Given the description of an element on the screen output the (x, y) to click on. 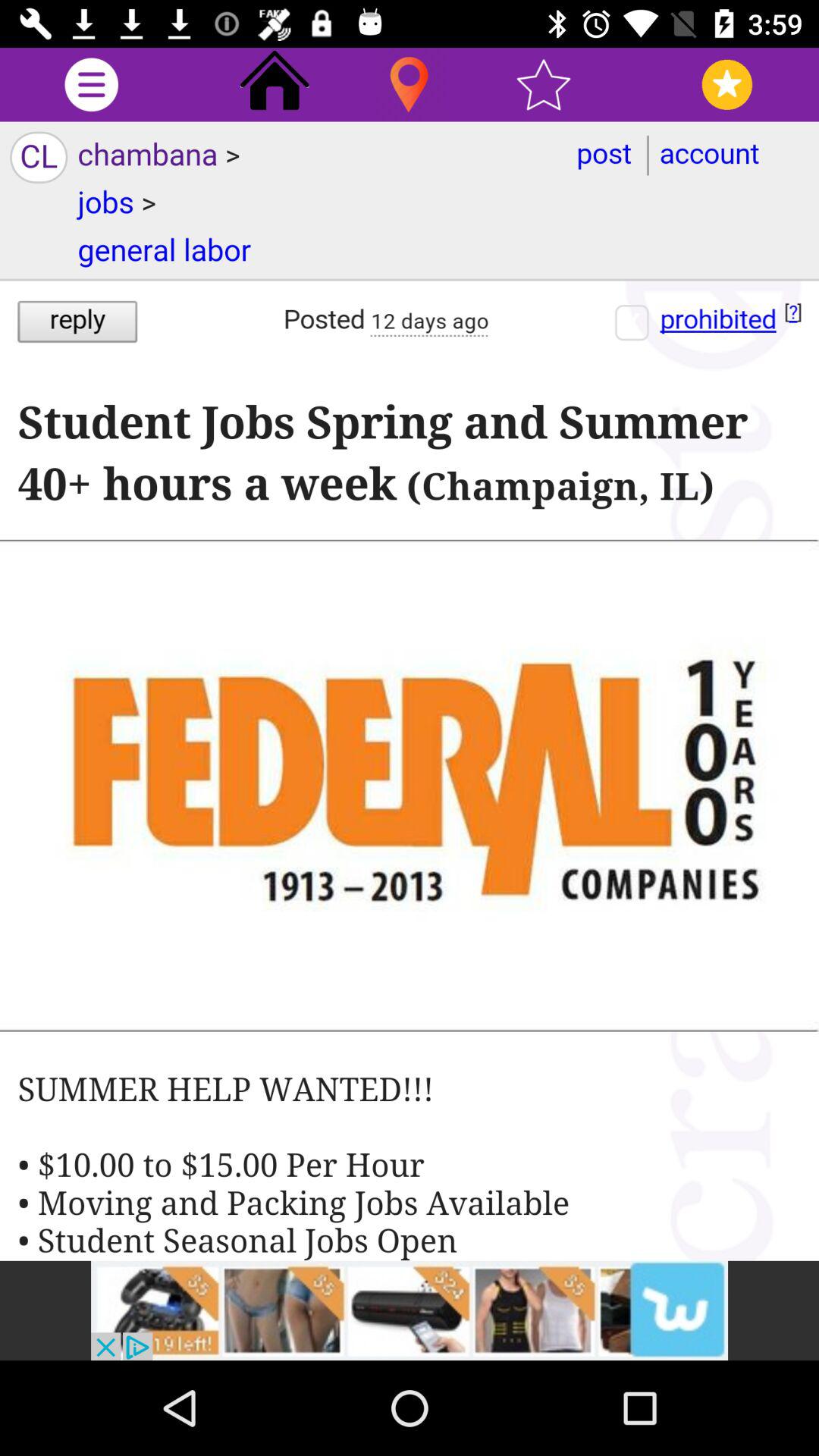
go to advertiser (409, 1310)
